Given the description of an element on the screen output the (x, y) to click on. 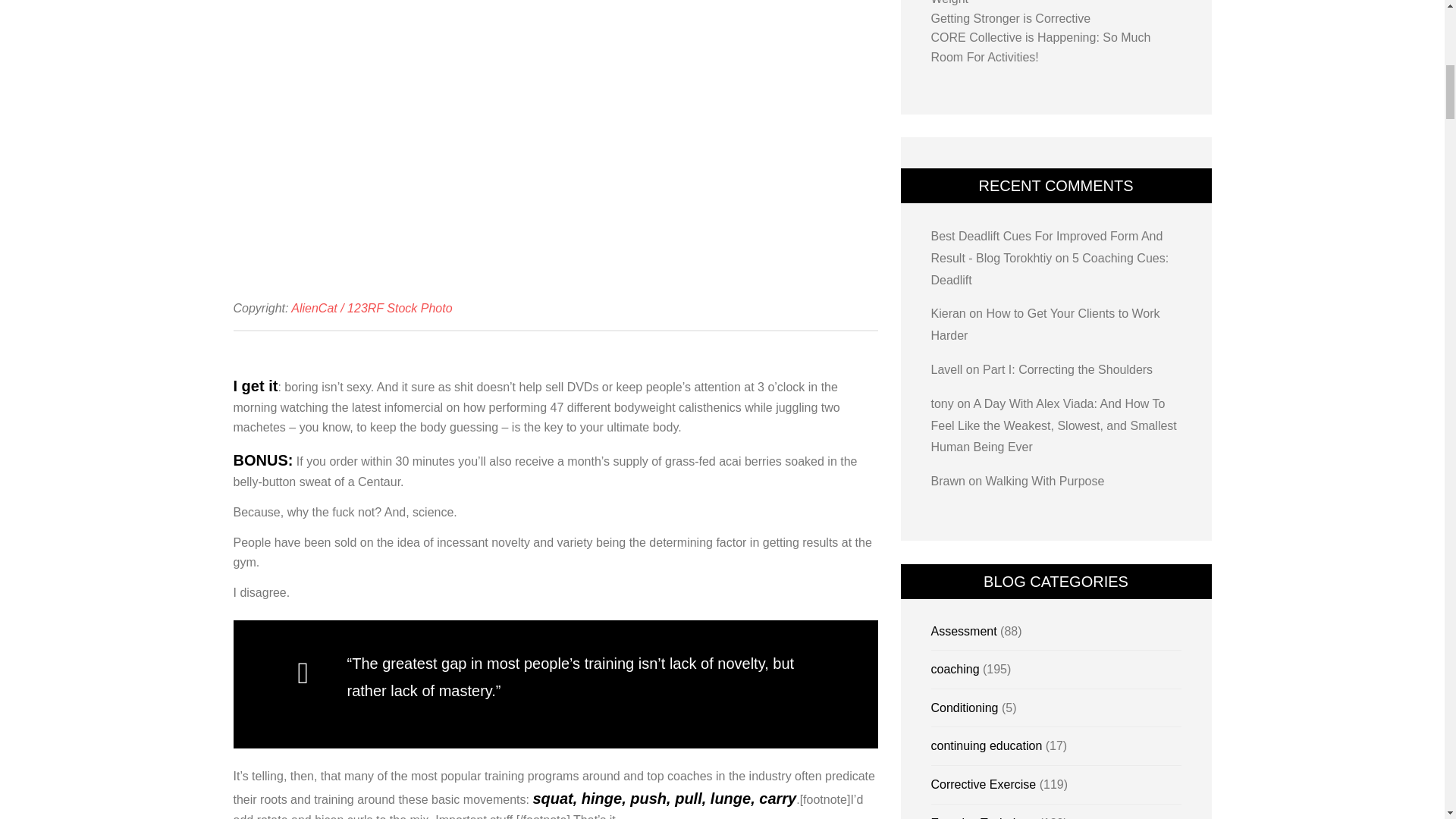
continuing education (986, 745)
Assessment (964, 631)
How to Get Your Clients to Work Harder (1045, 324)
5 Coaching Cues: Deadlift (1050, 268)
Corrective Exercise (983, 784)
CORE Collective is Happening: So Much Room For Activities! (1041, 47)
coaching (955, 668)
Exercise Technique (983, 817)
